Given the description of an element on the screen output the (x, y) to click on. 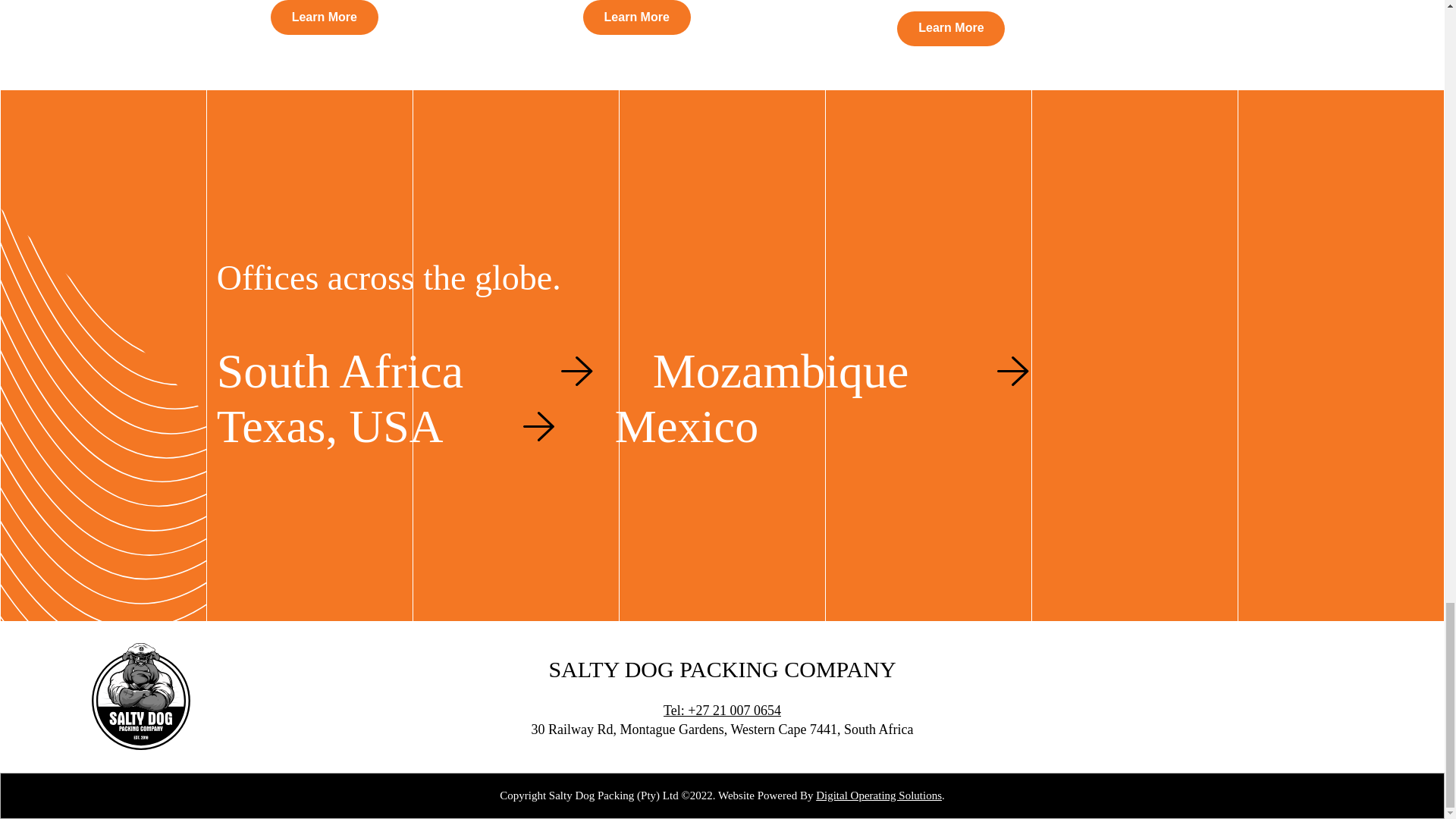
Digital Operating Solutions (878, 795)
Learn More (950, 28)
Learn More (324, 17)
Learn More (636, 17)
